Given the description of an element on the screen output the (x, y) to click on. 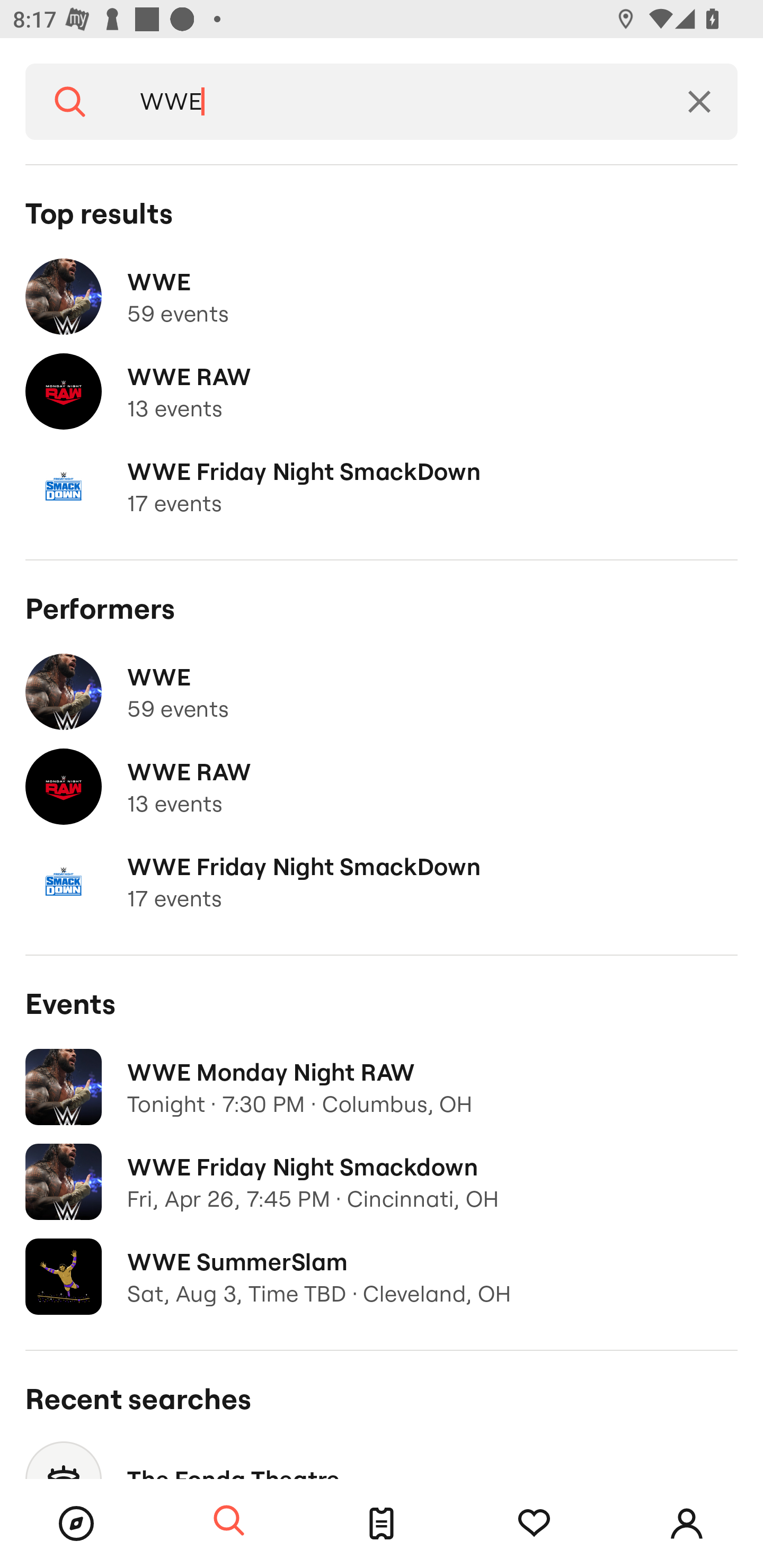
Search (69, 101)
WWE (387, 101)
Clear (699, 101)
WWE 59 events (381, 296)
WWE RAW 13 events (381, 391)
WWE Friday Night SmackDown 17 events (381, 486)
WWE 59 events (381, 692)
WWE RAW 13 events (381, 787)
WWE Friday Night SmackDown 17 events (381, 881)
Browse (76, 1523)
Search (228, 1521)
Tickets (381, 1523)
Tracking (533, 1523)
Account (686, 1523)
